Given the description of an element on the screen output the (x, y) to click on. 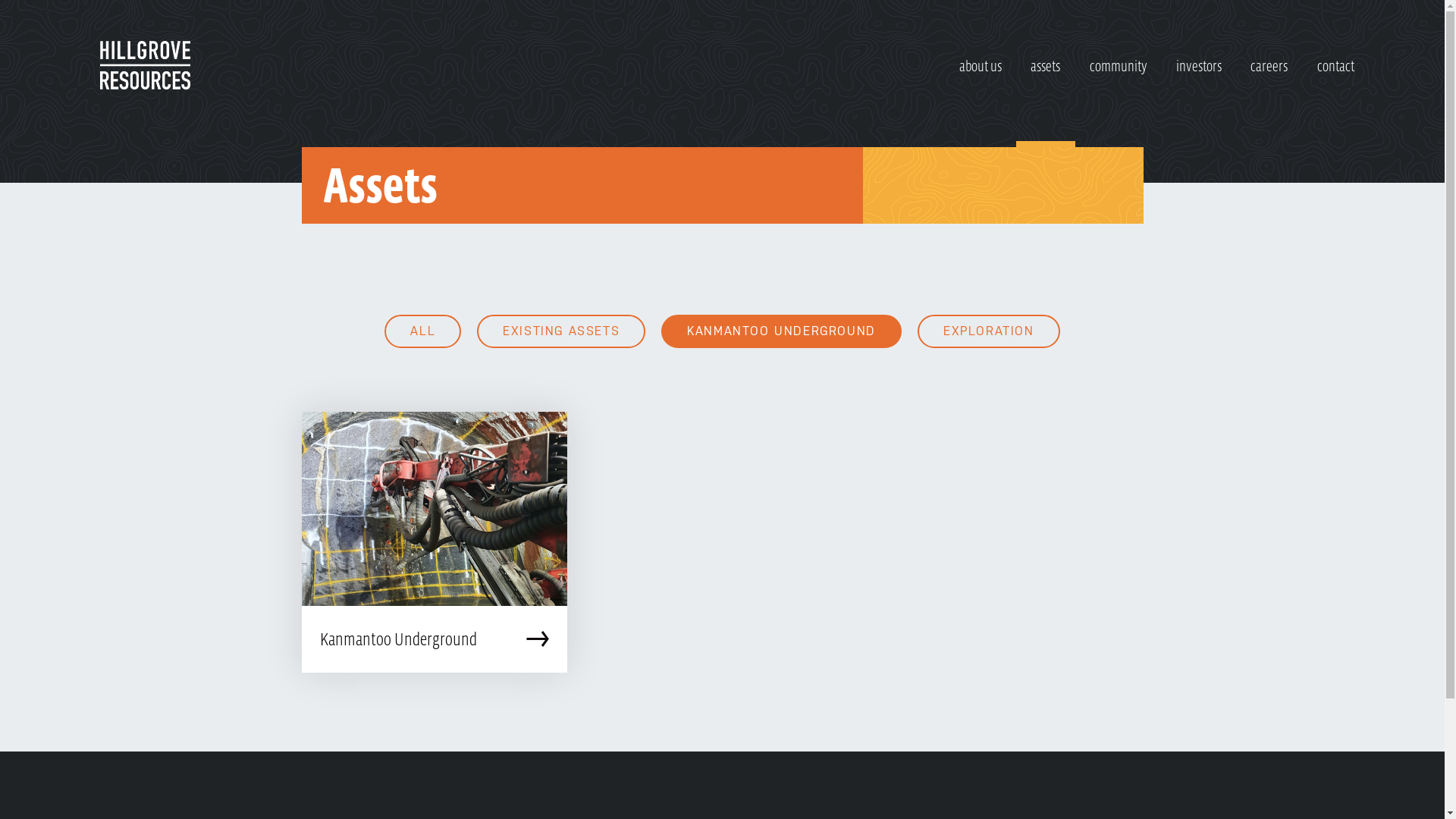
EXPLORATION Element type: text (988, 331)
contact Element type: text (1335, 73)
assets Element type: text (1045, 73)
careers Element type: text (1269, 73)
community Element type: text (1118, 73)
EXISTING ASSETS Element type: text (560, 331)
Kanmantoo Underground Element type: text (434, 541)
ALL Element type: text (422, 331)
KANMANTOO UNDERGROUND Element type: text (781, 331)
about us Element type: text (980, 73)
investors Element type: text (1198, 73)
